Given the description of an element on the screen output the (x, y) to click on. 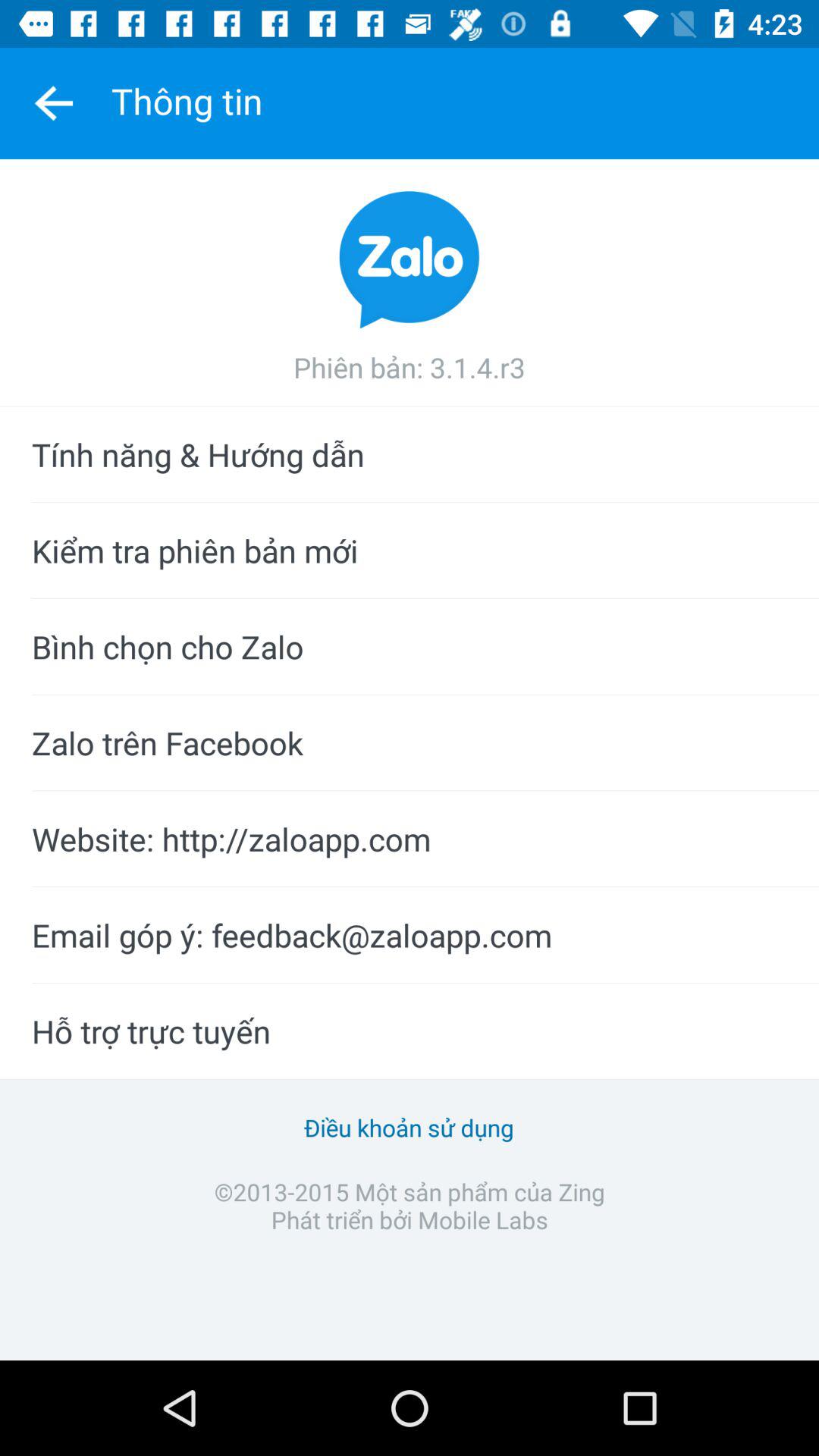
select website http zaloapp icon (409, 838)
